Given the description of an element on the screen output the (x, y) to click on. 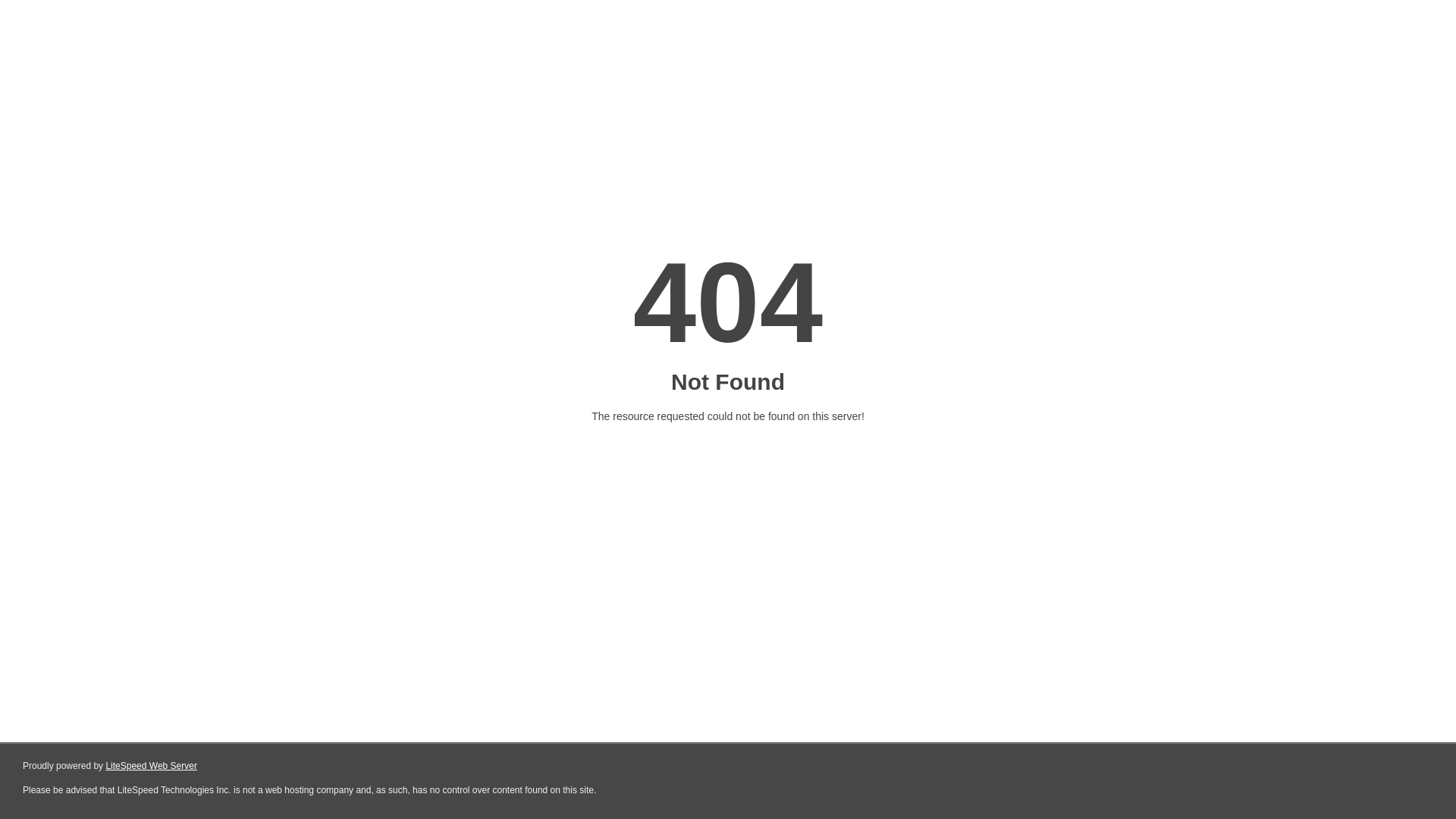
LiteSpeed Web Server Element type: text (151, 765)
